Given the description of an element on the screen output the (x, y) to click on. 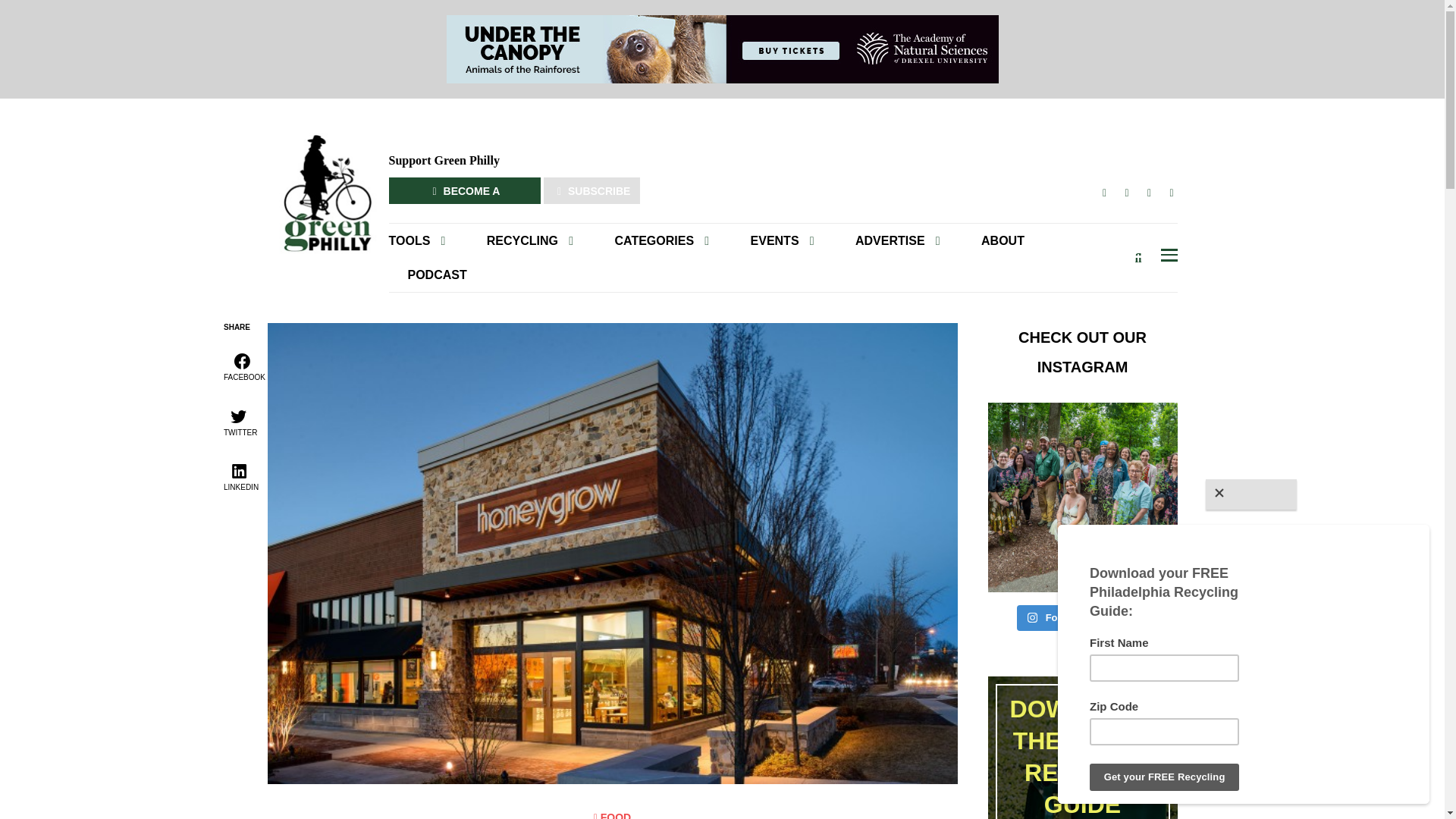
Click to share on Twitter (238, 420)
Click to share on Facebook (242, 365)
LINKEDIN (1171, 192)
BECOME A SUPPORTER (464, 190)
BIKING (675, 266)
RECYCLING (529, 240)
FACEBOOK (1104, 192)
TOOLS (426, 240)
SUBSCRIBE (591, 190)
TWITTER (1127, 192)
Subscribe (935, 278)
Click to share on LinkedIn (239, 475)
CATEGORIES (661, 240)
CSA GUIDE (529, 266)
